Given the description of an element on the screen output the (x, y) to click on. 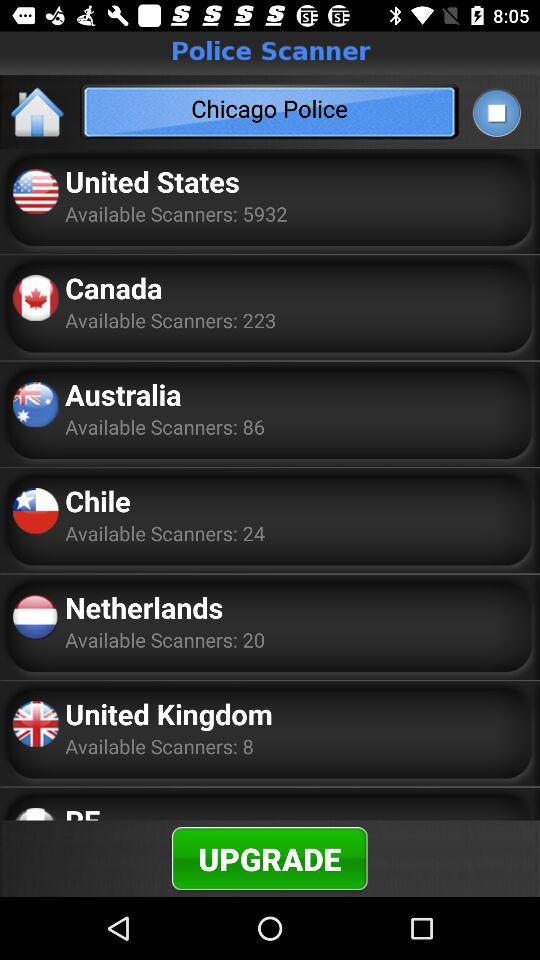
jump to the canada item (113, 287)
